Given the description of an element on the screen output the (x, y) to click on. 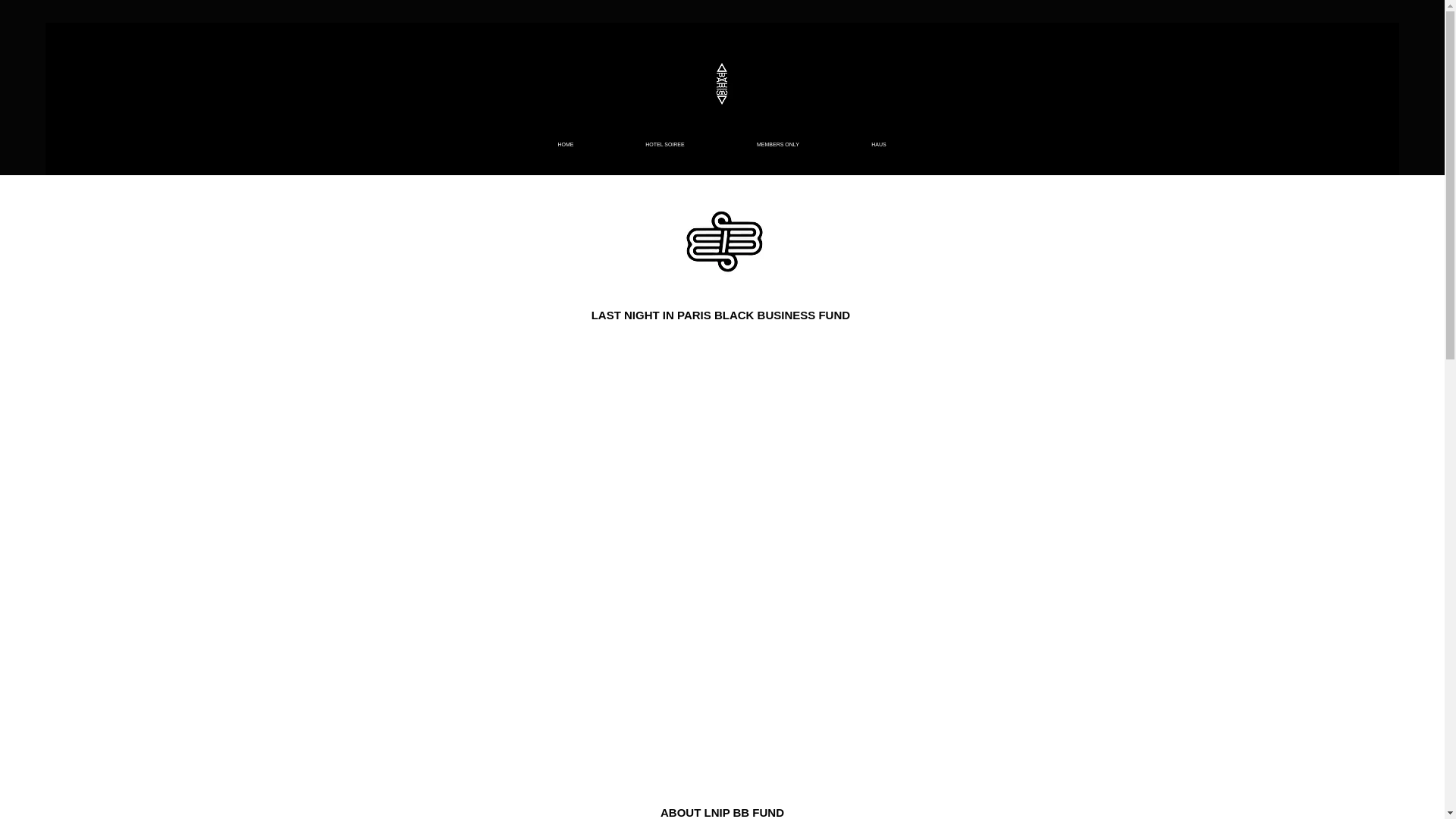
HAUS (878, 144)
MEMBERS ONLY (777, 144)
HOME (565, 144)
HOTEL SOIREE (665, 144)
